Given the description of an element on the screen output the (x, y) to click on. 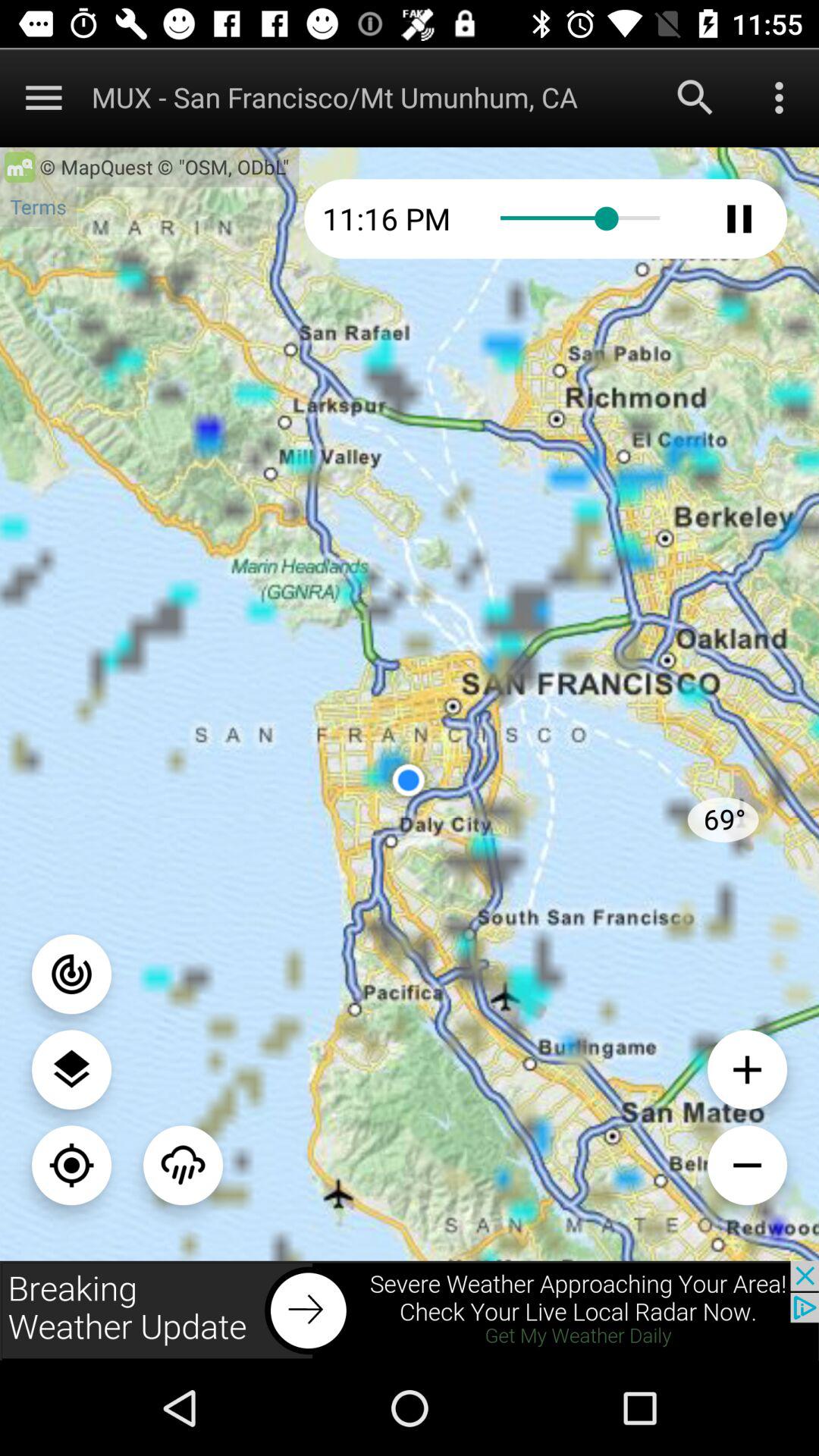
zoom the image (747, 1069)
